Given the description of an element on the screen output the (x, y) to click on. 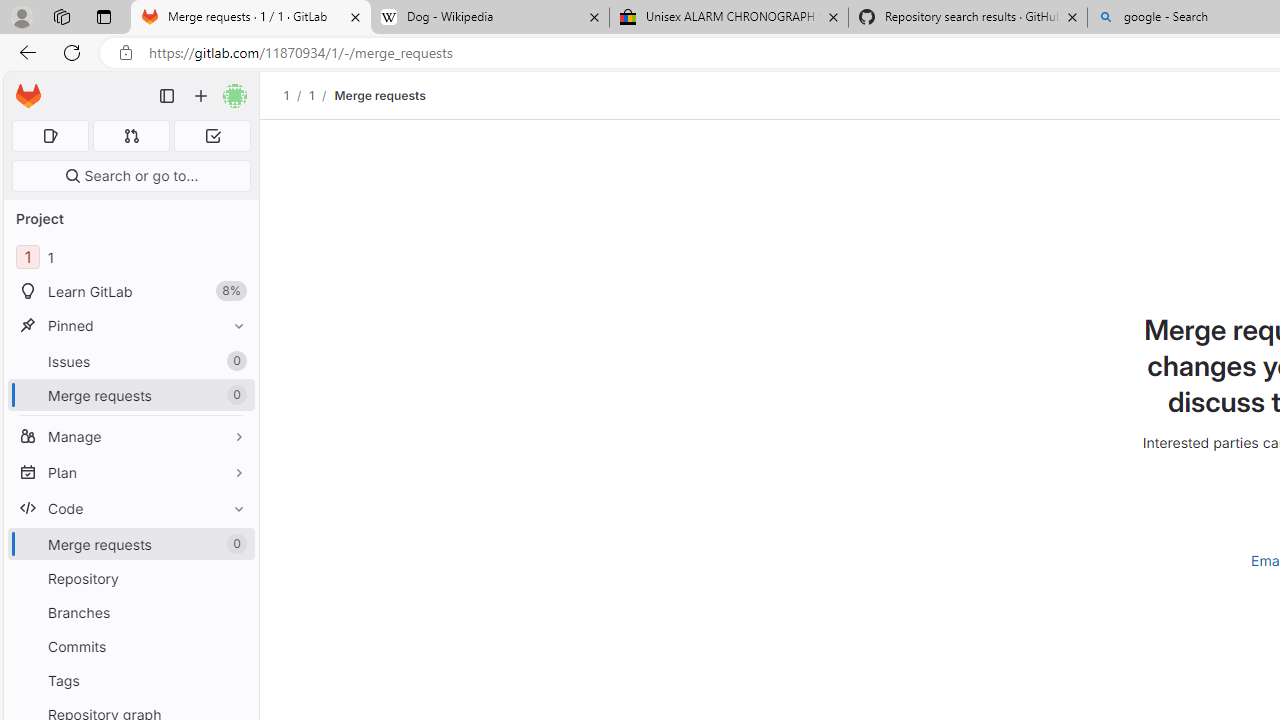
1/ (321, 95)
Repository (130, 578)
Merge requests (380, 95)
Branches (130, 612)
Unpin Merge requests (234, 544)
Issues 0 (130, 361)
1 1 (130, 257)
Dog - Wikipedia (490, 17)
Branches (130, 612)
Repository (130, 578)
Merge requests0 (130, 543)
